Given the description of an element on the screen output the (x, y) to click on. 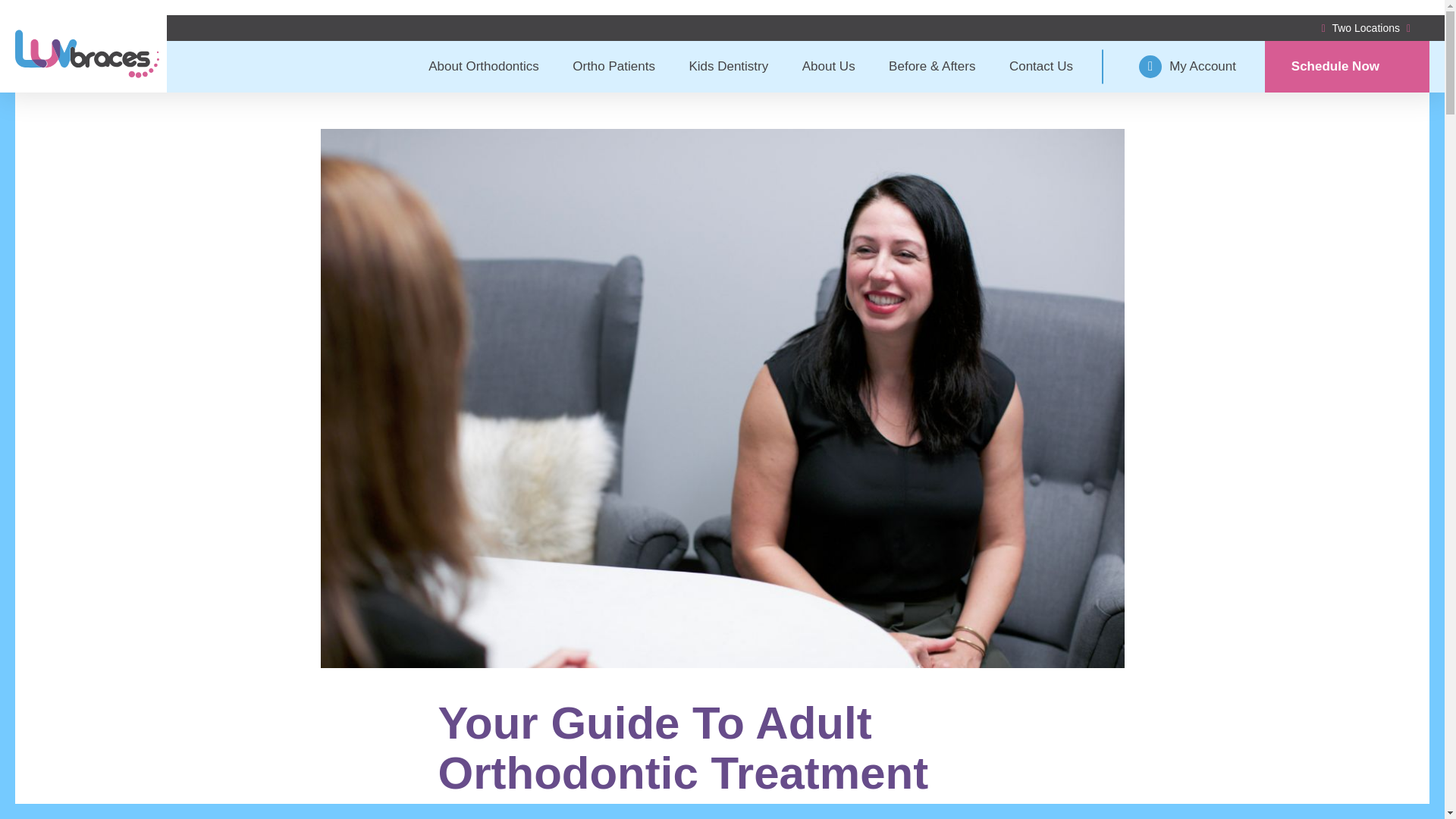
About Orthodontics (483, 66)
Two Locations (1365, 28)
Contact Us (1041, 66)
Kids Dentistry (728, 66)
Ortho Patients (613, 66)
About Us (829, 66)
